Given the description of an element on the screen output the (x, y) to click on. 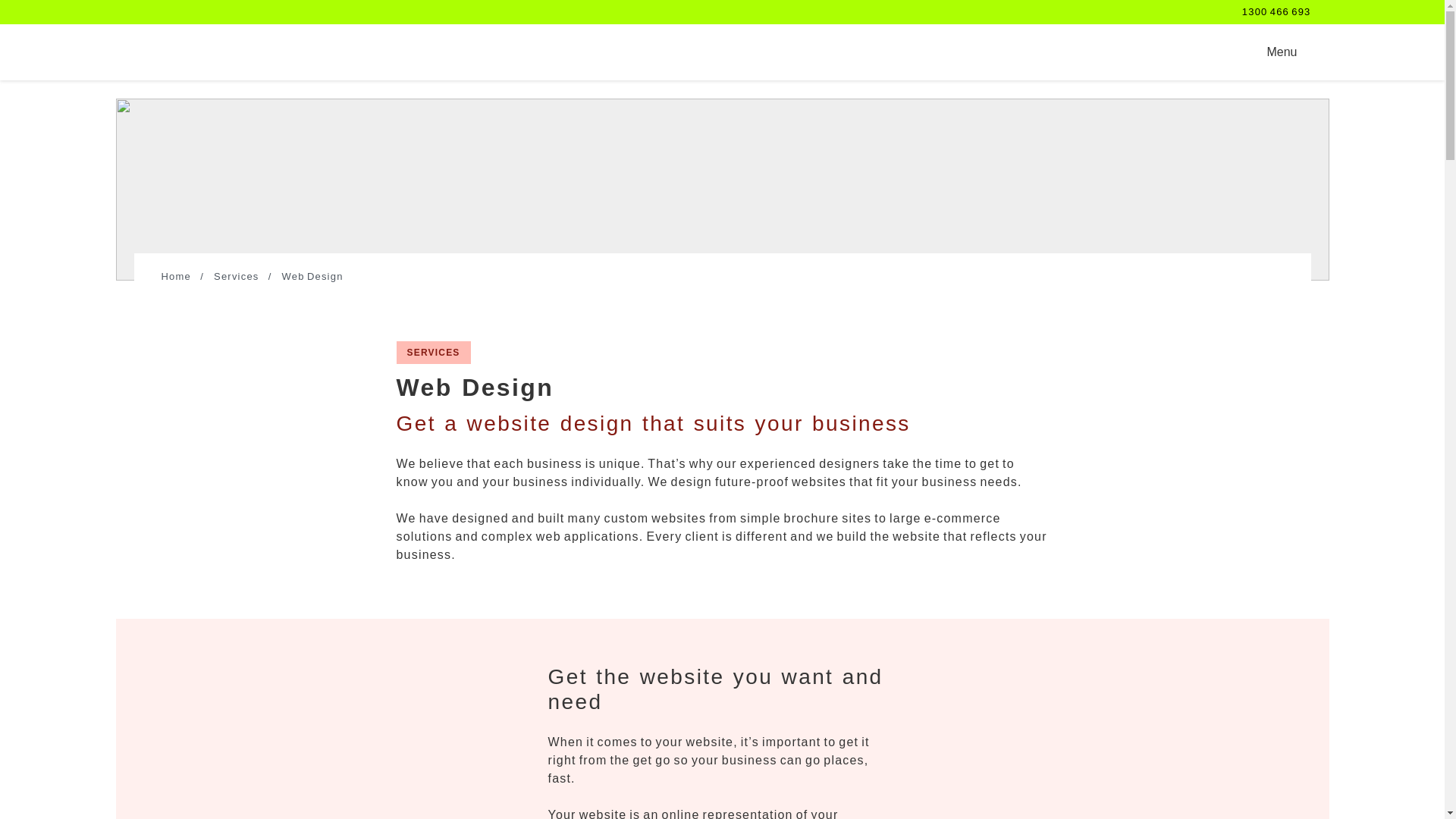
Web Design (312, 276)
Home page (1271, 52)
Services (190, 52)
1300 466 693 (236, 276)
SERVICES (1276, 11)
Home (433, 352)
